Given the description of an element on the screen output the (x, y) to click on. 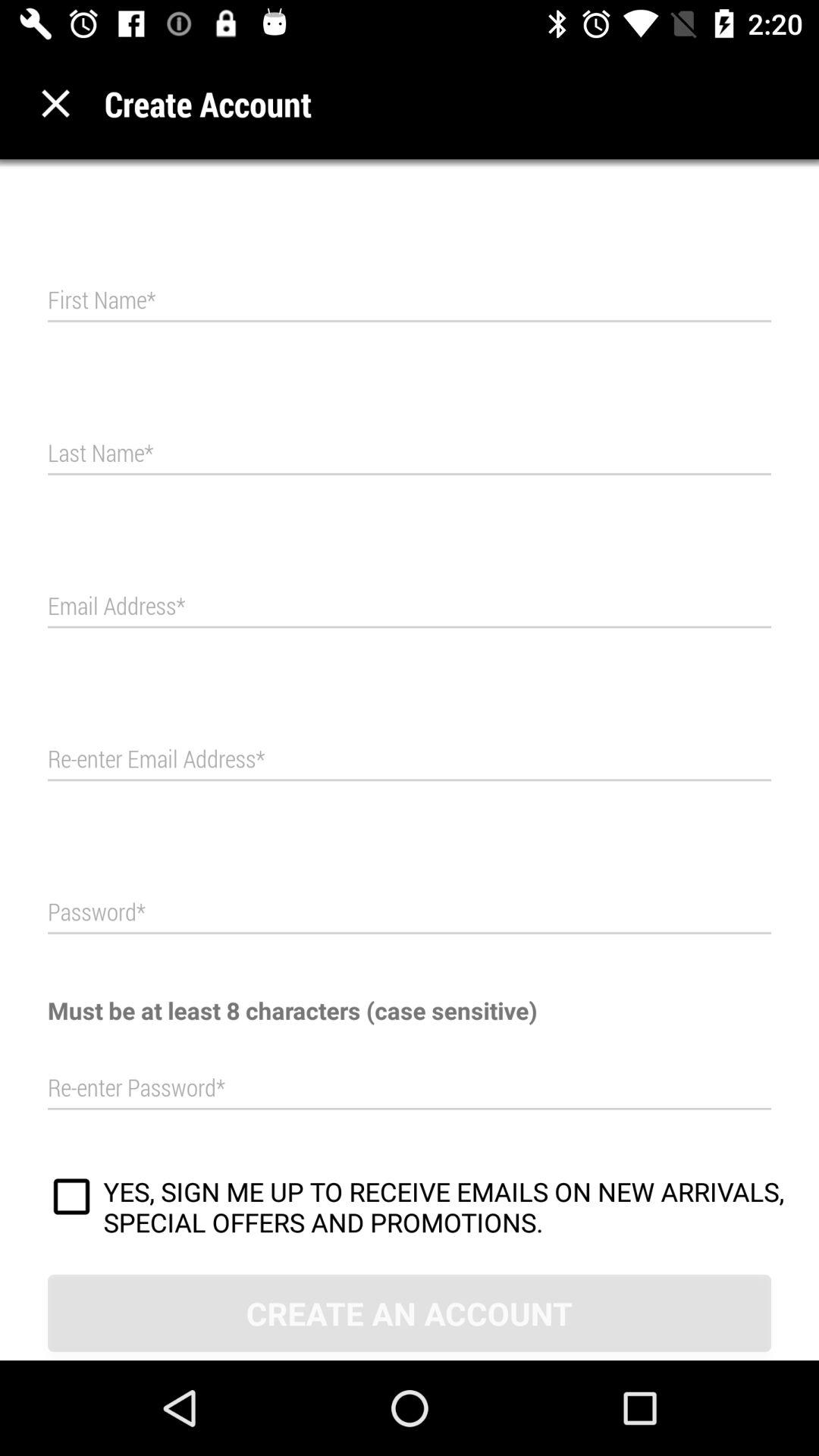
exit screen (55, 103)
